Given the description of an element on the screen output the (x, y) to click on. 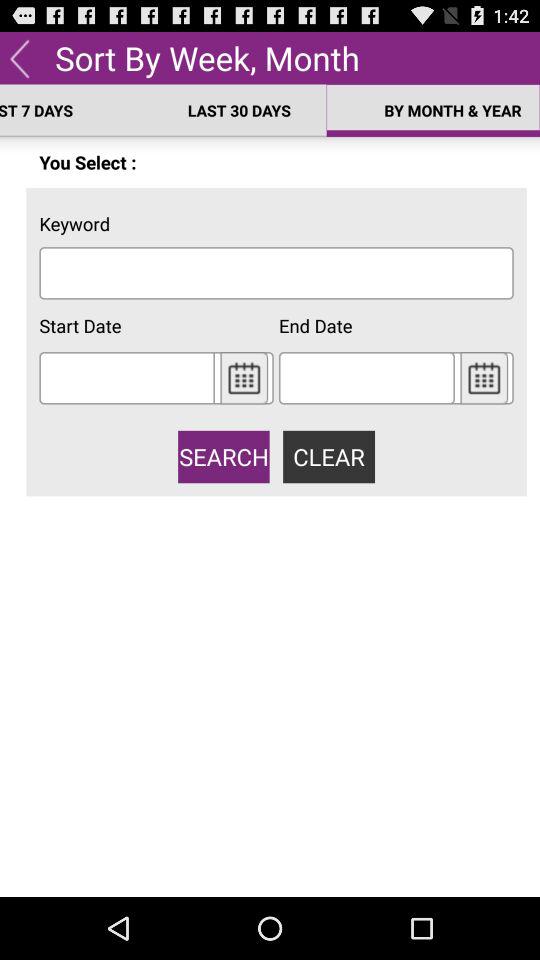
scroll to the clear icon (328, 456)
